Given the description of an element on the screen output the (x, y) to click on. 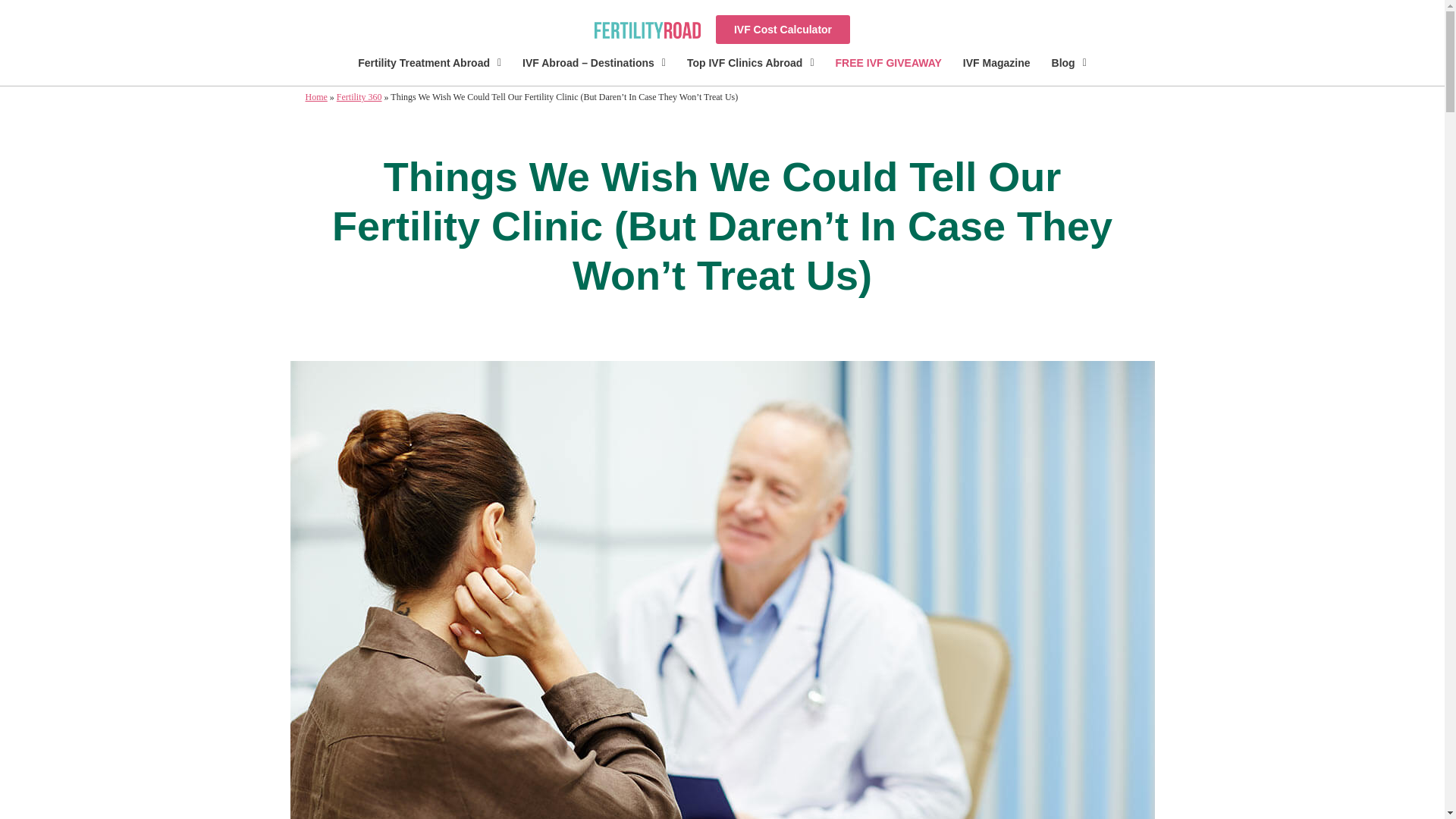
Blog (1069, 62)
Top IVF Clinics Abroad (751, 62)
IVF Magazine (996, 62)
Fertility Treatment Abroad (429, 62)
IVF Cost Calculator (783, 29)
FREE IVF GIVEAWAY (888, 62)
